Given the description of an element on the screen output the (x, y) to click on. 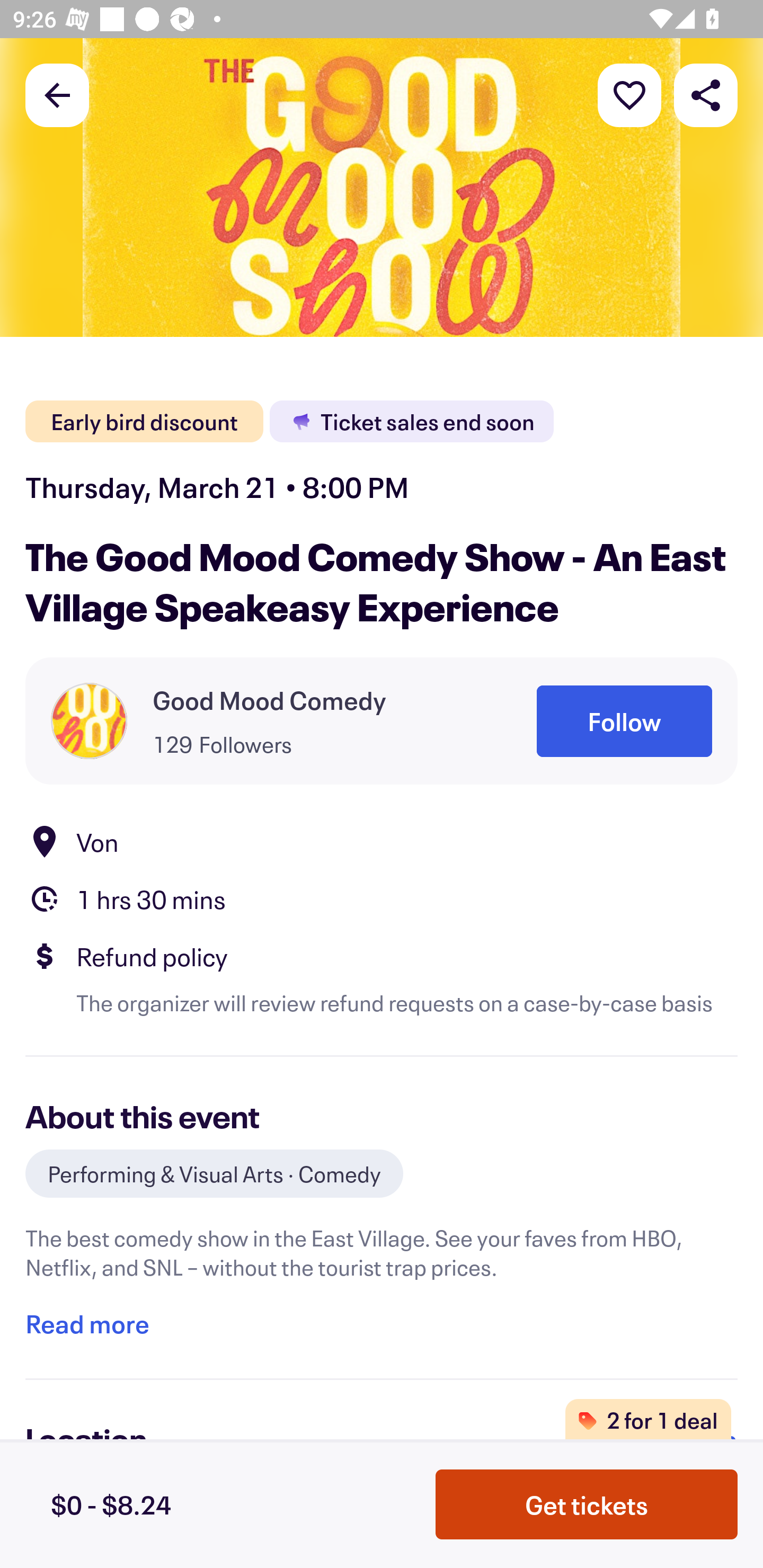
Back (57, 94)
More (629, 94)
Share (705, 94)
Early bird discount (144, 421)
Good Mood Comedy (269, 699)
Organizer profile picture (89, 720)
Follow (623, 720)
Location Von (381, 840)
Read more (87, 1323)
Get tickets (586, 1504)
